Given the description of an element on the screen output the (x, y) to click on. 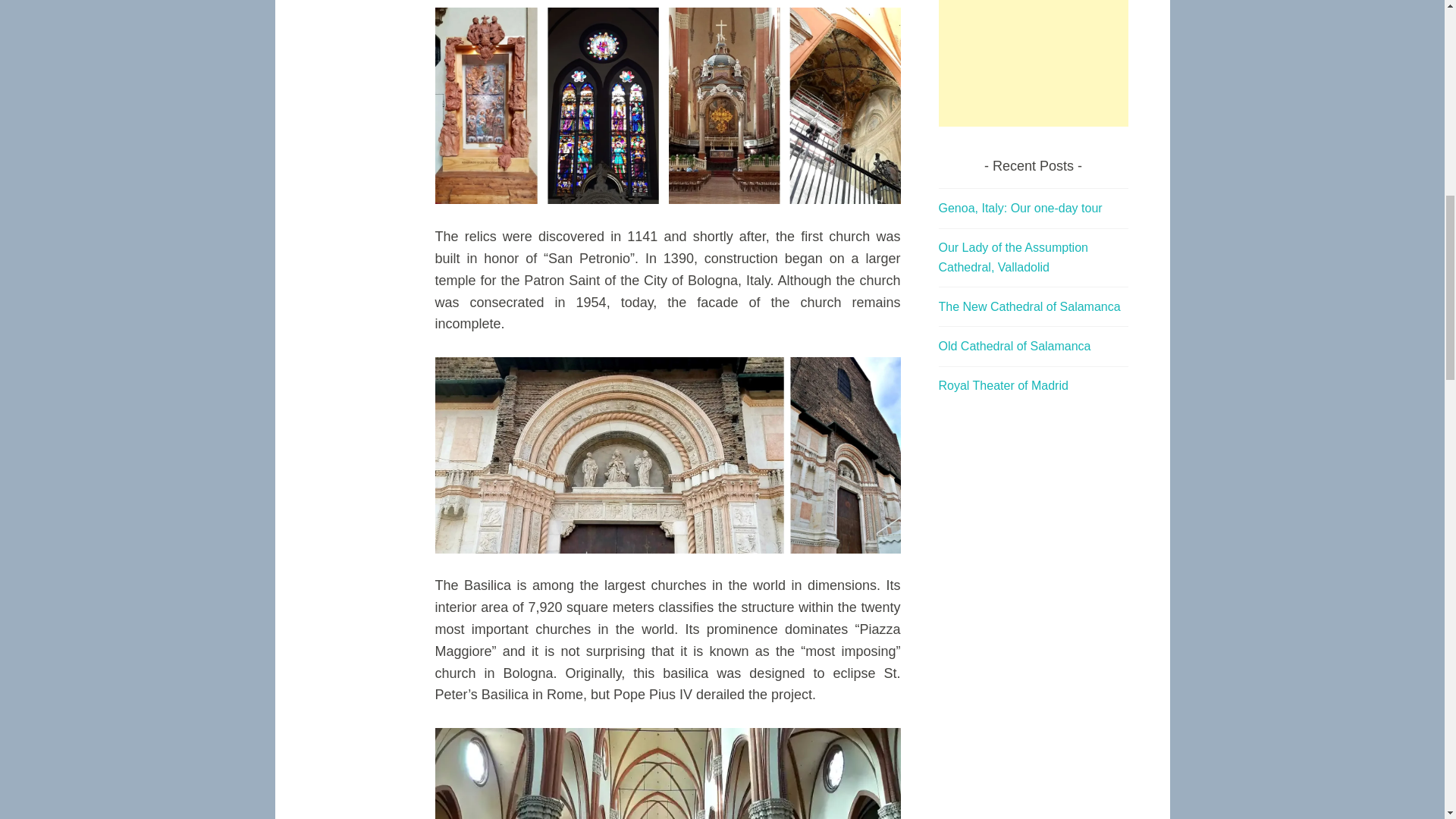
Advertisement (1033, 63)
